Given the description of an element on the screen output the (x, y) to click on. 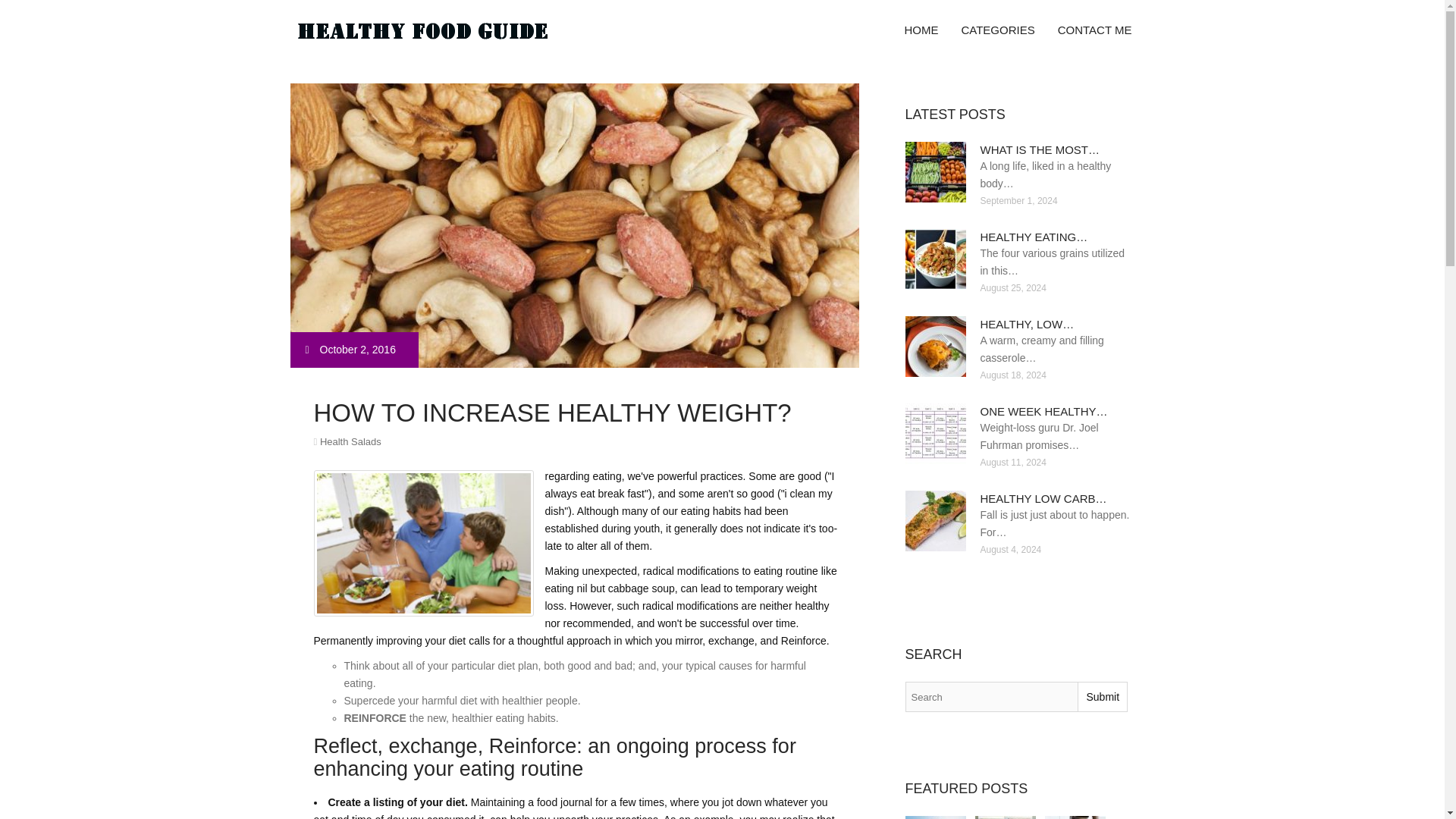
HOME (920, 30)
Submit (1101, 696)
Easy healthy weight loss recipes (1005, 817)
CATEGORIES (997, 30)
Health Salads (350, 441)
How to Stay on a healthy diet? (935, 817)
What is healthy weight loss per month? (1075, 817)
CONTACT ME (1094, 30)
